Given the description of an element on the screen output the (x, y) to click on. 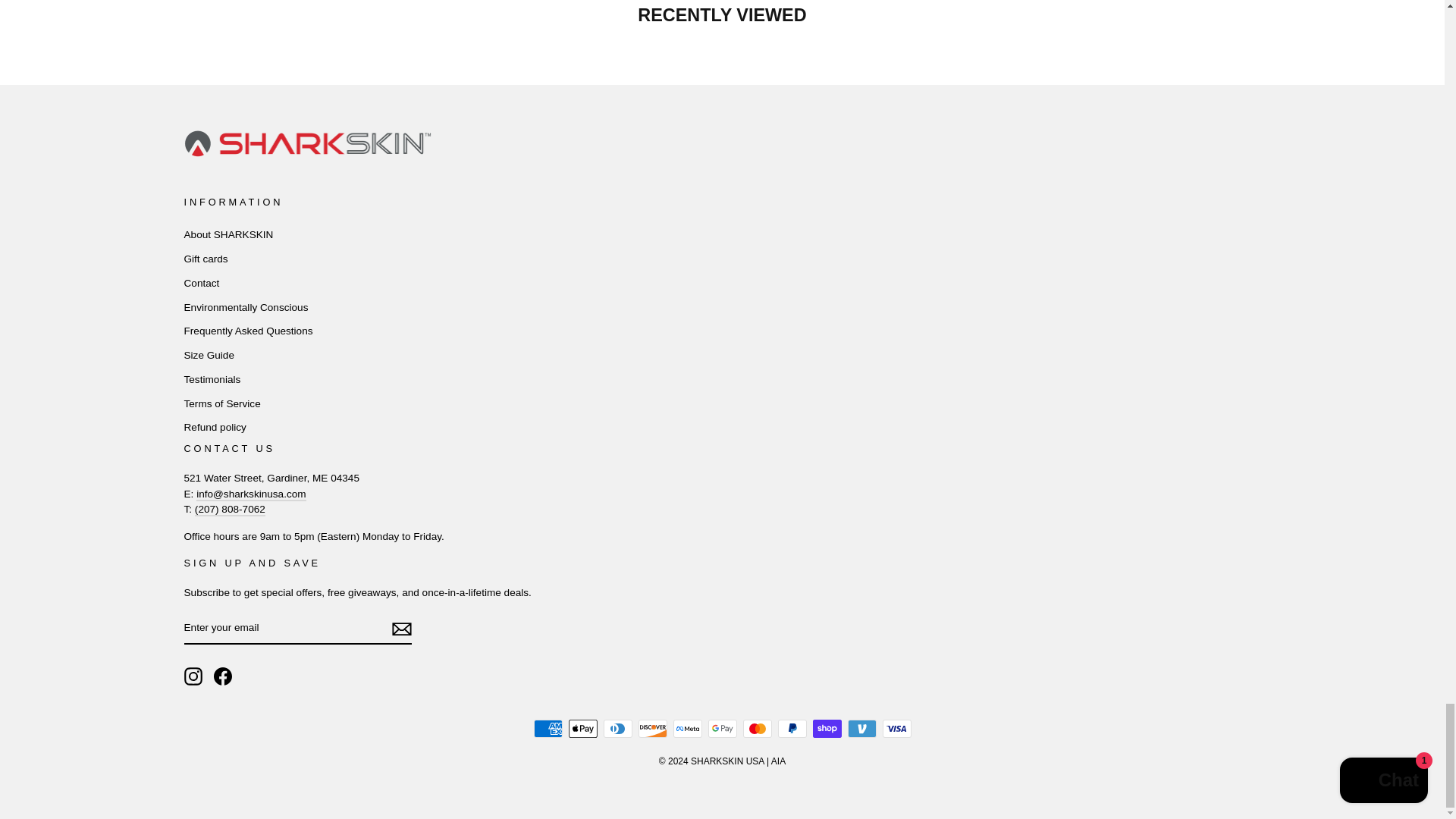
SHARKSKIN USA on Instagram (192, 676)
SHARKSKIN USA on Facebook (222, 676)
